Given the description of an element on the screen output the (x, y) to click on. 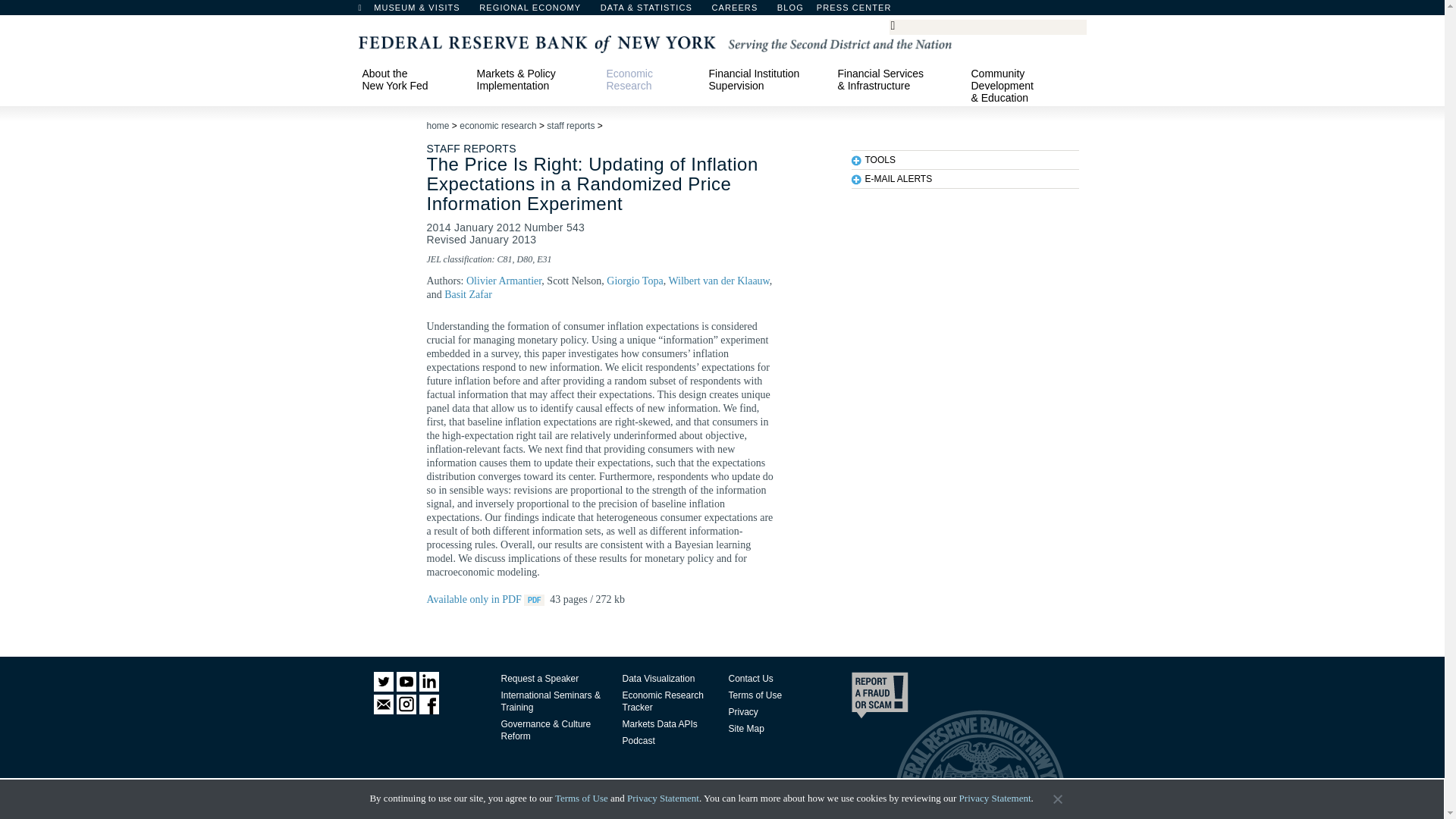
About the New York Fed (411, 79)
Search Box (985, 26)
Federal Reserve Bank of New York (654, 42)
Home (367, 11)
BLOG (830, 11)
Regional Economy (537, 11)
About the New York Fed (411, 79)
Press Center (861, 11)
Liberty Street Economics Blog (830, 11)
REGIONAL ECONOMY (537, 11)
CAREERS (742, 11)
PRESS CENTER (861, 11)
Search Form (987, 27)
Careers (742, 11)
